Given the description of an element on the screen output the (x, y) to click on. 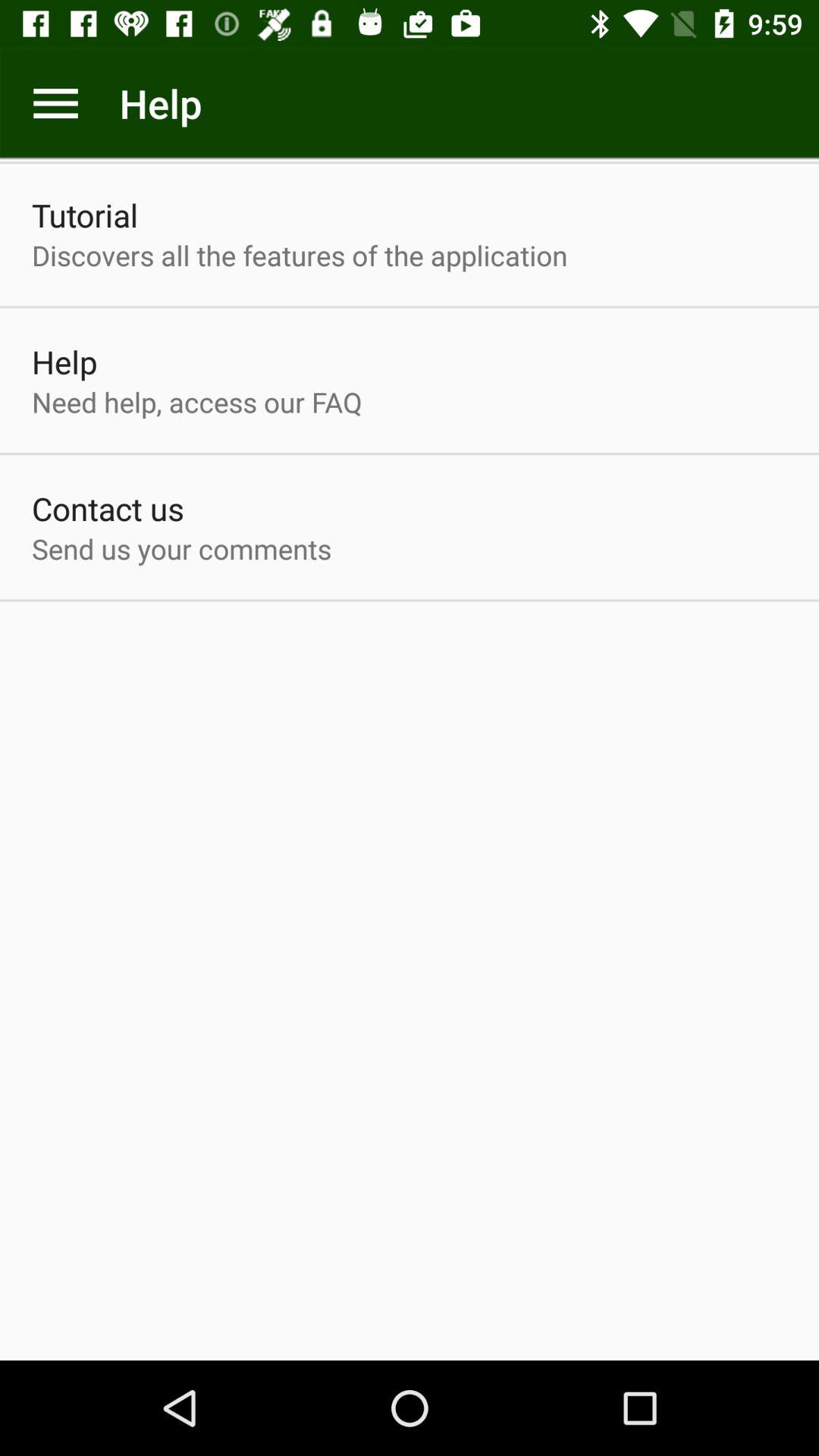
menu button (55, 103)
